Given the description of an element on the screen output the (x, y) to click on. 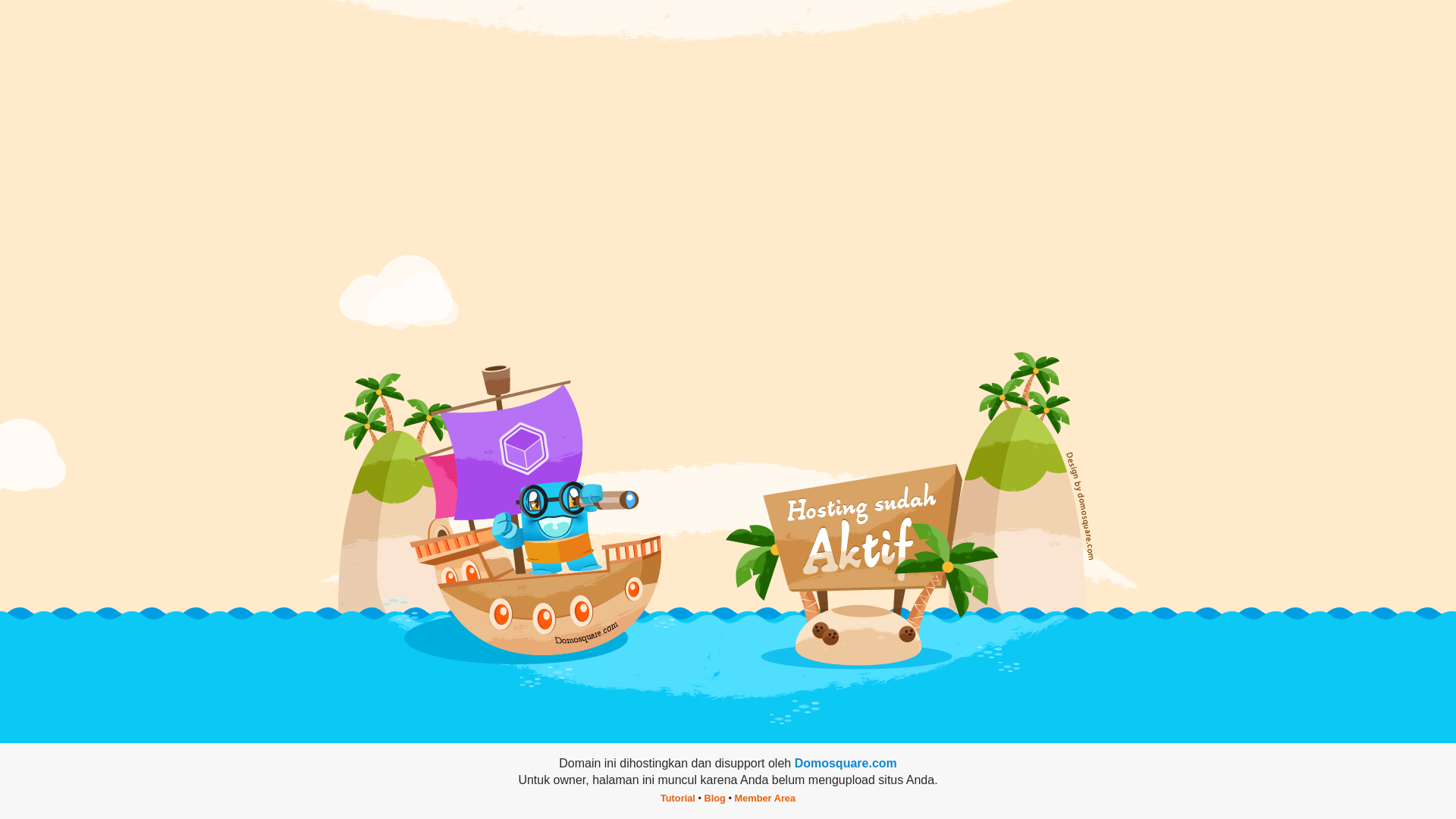
Blog Element type: text (713, 797)
Tutorial Element type: text (677, 797)
Member Area Element type: text (764, 797)
Domosquare.com Element type: text (845, 762)
